Given the description of an element on the screen output the (x, y) to click on. 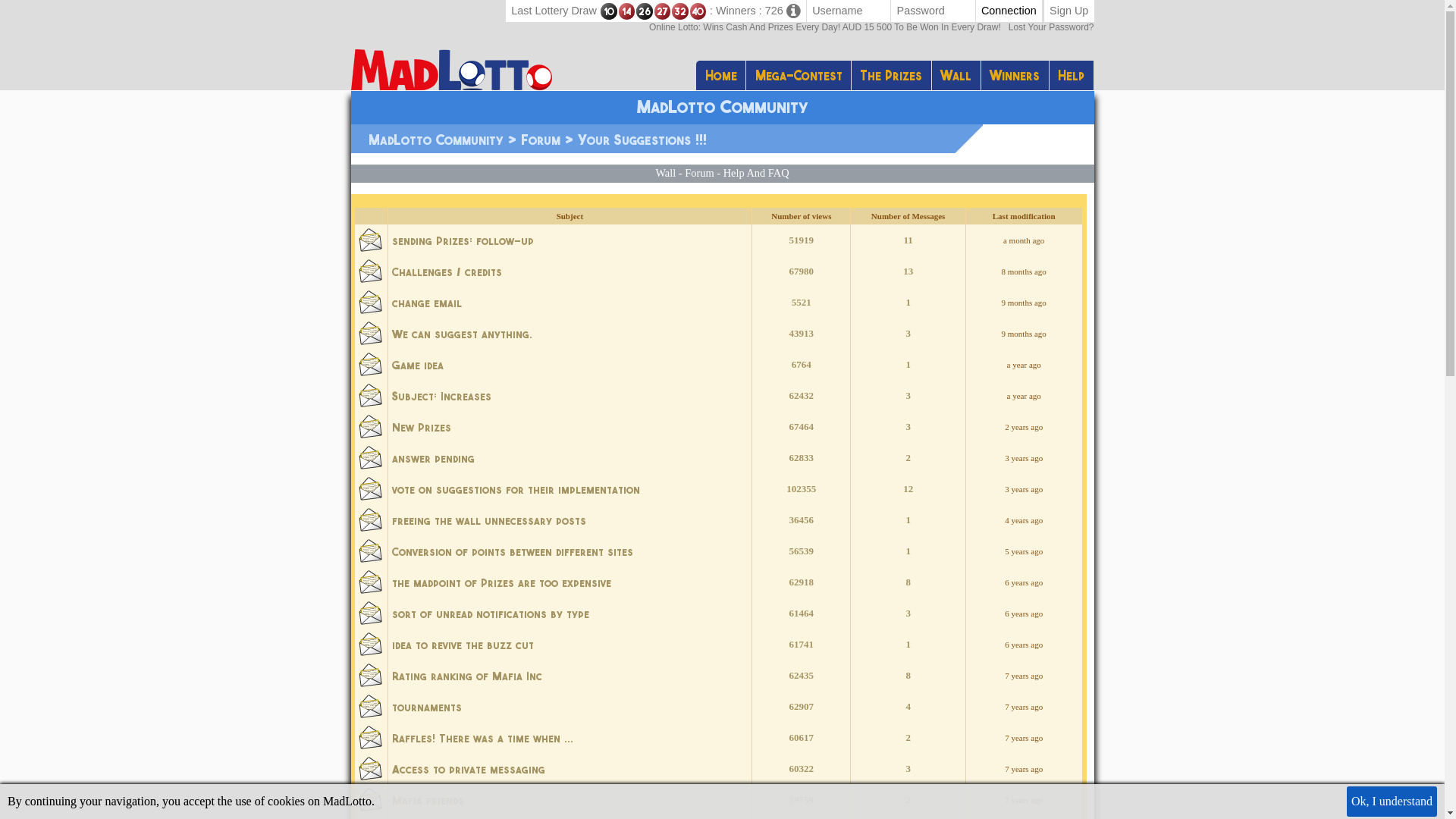
Wall Element type: text (665, 172)
Mega-Contest Element type: text (798, 75)
36456 Element type: text (801, 520)
Rating ranking of Mafia Inc Element type: text (569, 674)
62432 Element type: text (801, 395)
sending Prizes: follow-up Element type: text (462, 240)
We can suggest anything. Element type: text (461, 333)
Access to private messaging Element type: text (569, 768)
Game idea Element type: text (416, 364)
3 Element type: text (907, 426)
Subject: Increases Element type: text (569, 395)
2 Element type: text (907, 457)
idea to revive the buzz cut Element type: text (569, 643)
Ok, I understand Element type: text (1391, 801)
3 Element type: text (907, 768)
Help Element type: text (1071, 75)
59759 Element type: text (801, 799)
We can suggest anything. Element type: text (569, 332)
Home Element type: text (721, 75)
change email Element type: text (426, 302)
1 Element type: text (907, 364)
sort of unread notifications by type Element type: text (489, 613)
Challenges / credits Element type: text (446, 271)
Rating ranking of Mafia Inc Element type: text (466, 675)
Sign Up Element type: text (1068, 10)
Connection Element type: text (1008, 10)
Raffles! There was a time when ... Element type: text (481, 737)
freeing the wall unnecessary posts Element type: text (488, 520)
sending Prizes: follow-up Element type: text (569, 239)
67464 Element type: text (801, 426)
Forum Element type: text (698, 172)
67980 Element type: text (801, 271)
51919 Element type: text (801, 240)
vote on suggestions for their implementation Element type: text (569, 488)
5521 Element type: text (801, 302)
The Prizes Element type: text (891, 75)
idea to revive the buzz cut Element type: text (462, 644)
62918 Element type: text (801, 582)
Conversion of points between different sites Element type: text (569, 550)
8 Element type: text (907, 582)
tournaments Element type: text (569, 705)
vote on suggestions for their implementation Element type: text (515, 489)
102355 Element type: text (801, 489)
60322 Element type: text (801, 768)
62833 Element type: text (801, 457)
the madpoint of Prizes are too expensive Element type: text (569, 581)
Conversion of points between different sites Element type: text (511, 551)
answer pending Element type: text (432, 457)
1 Element type: text (907, 520)
43913 Element type: text (801, 333)
61464 Element type: text (801, 613)
3 Element type: text (907, 395)
62907 Element type: text (801, 706)
11 Element type: text (907, 240)
the madpoint of Prizes are too expensive Element type: text (500, 582)
60617 Element type: text (801, 737)
6764 Element type: text (801, 364)
3 Element type: text (907, 613)
change email Element type: text (569, 301)
Access to private messaging Element type: text (467, 768)
Mafia friends Element type: text (569, 799)
2 Element type: text (907, 737)
Help And FAQ Element type: text (756, 172)
13 Element type: text (907, 271)
56539 Element type: text (801, 551)
4 Element type: text (907, 706)
62435 Element type: text (801, 675)
61741 Element type: text (801, 644)
8 Element type: text (907, 675)
12 Element type: text (907, 489)
sort of unread notifications by type Element type: text (569, 612)
New Prizes Element type: text (569, 426)
3 Element type: text (907, 333)
1 Element type: text (907, 302)
Game idea Element type: text (569, 363)
1 Element type: text (907, 551)
Last Lottery Draw  10 14 26 27 32 40  : Winners : 726  Element type: text (655, 10)
Sign Up Element type: text (1069, 10)
Wall Element type: text (956, 75)
Subject: Increases Element type: text (440, 395)
Mafia friends Element type: text (427, 799)
2 Element type: text (907, 799)
New Prizes Element type: text (420, 426)
Raffles! There was a time when ... Element type: text (569, 737)
Winners Element type: text (1015, 75)
answer pending Element type: text (569, 457)
Challenges / credits Element type: text (569, 270)
1 Element type: text (907, 644)
freeing the wall unnecessary posts Element type: text (569, 519)
Forum Element type: text (539, 139)
tournaments Element type: text (426, 706)
